Given the description of an element on the screen output the (x, y) to click on. 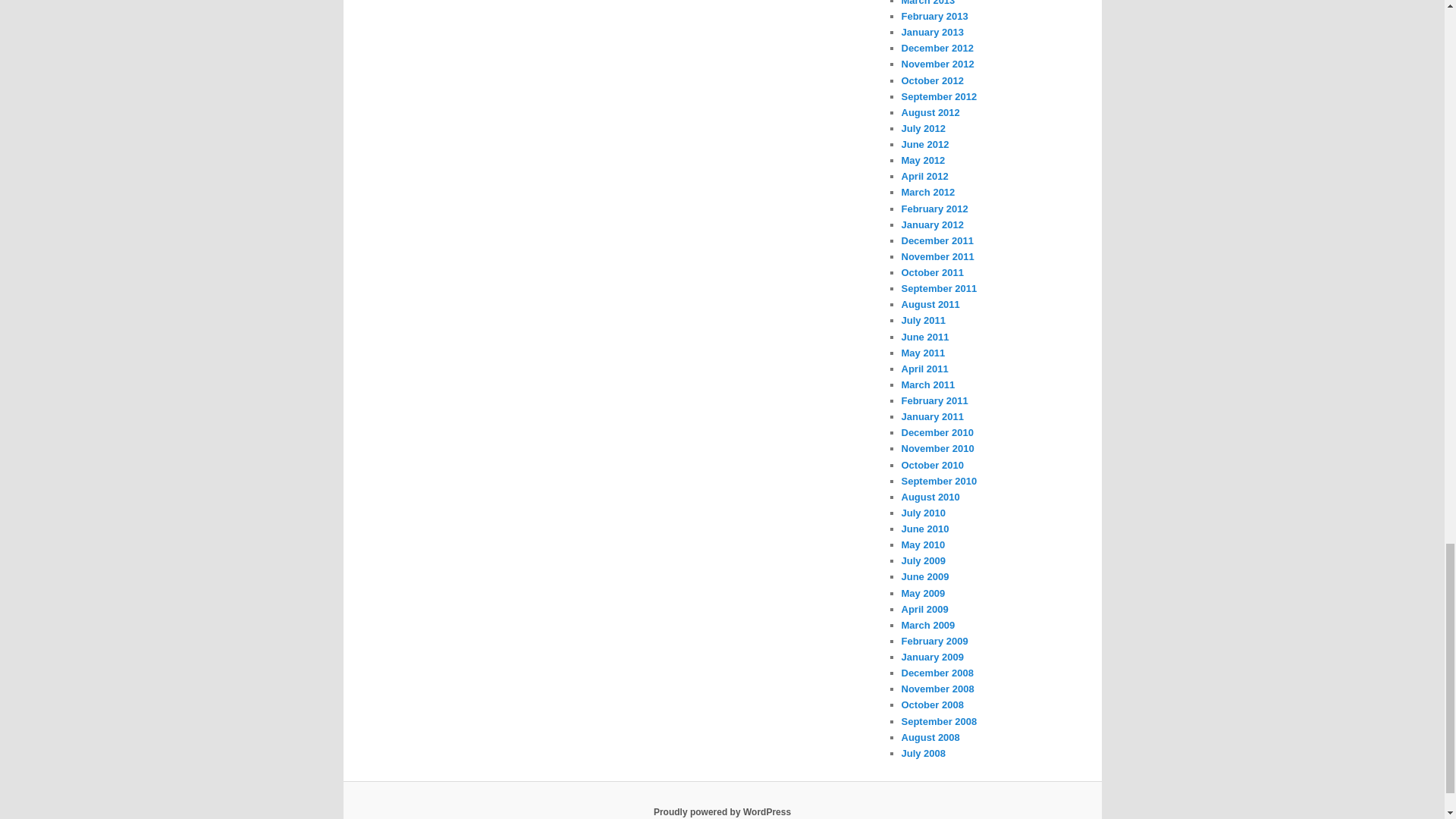
Semantic Personal Publishing Platform (721, 811)
